Given the description of an element on the screen output the (x, y) to click on. 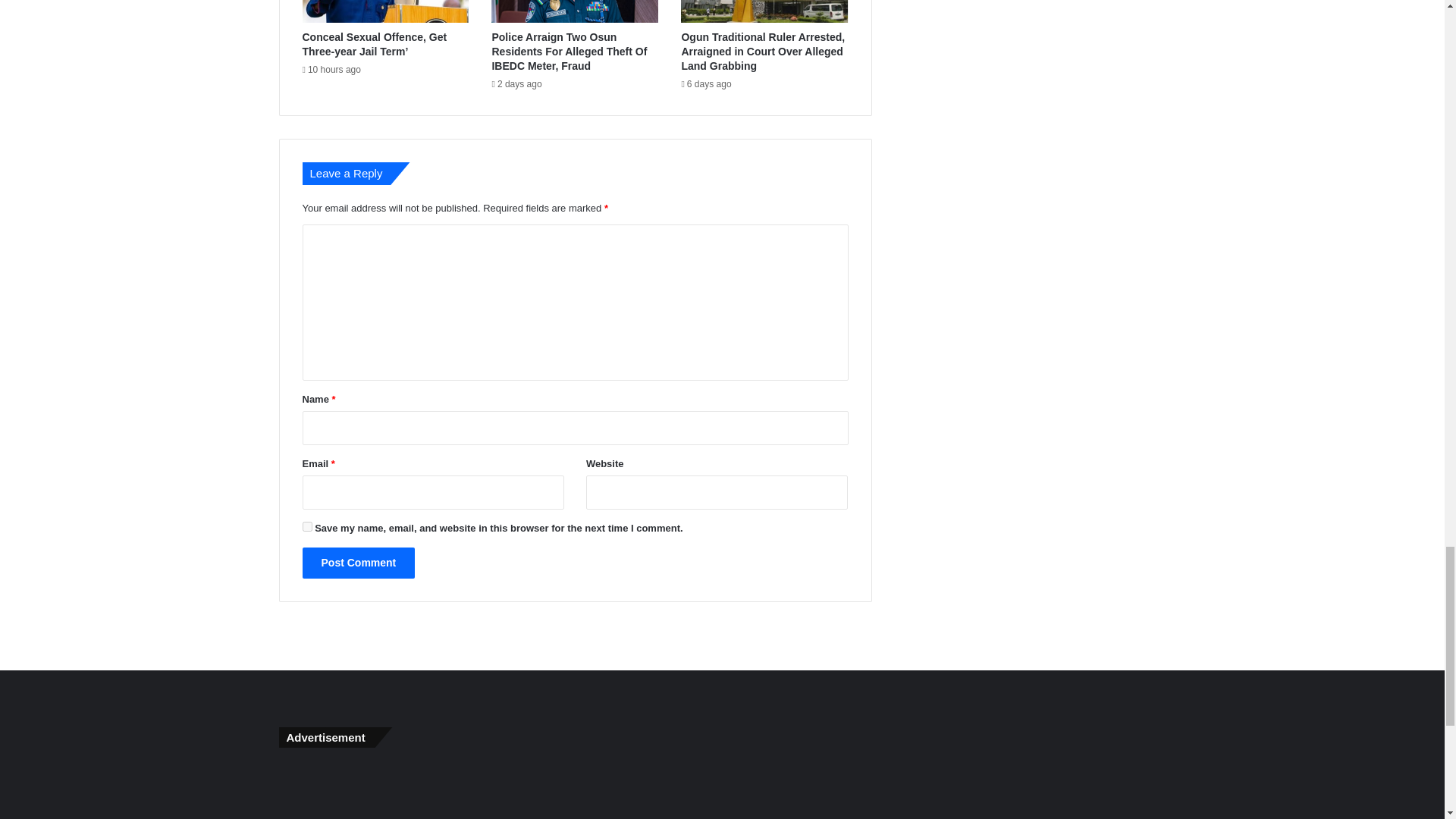
Post Comment (357, 562)
yes (306, 526)
